Given the description of an element on the screen output the (x, y) to click on. 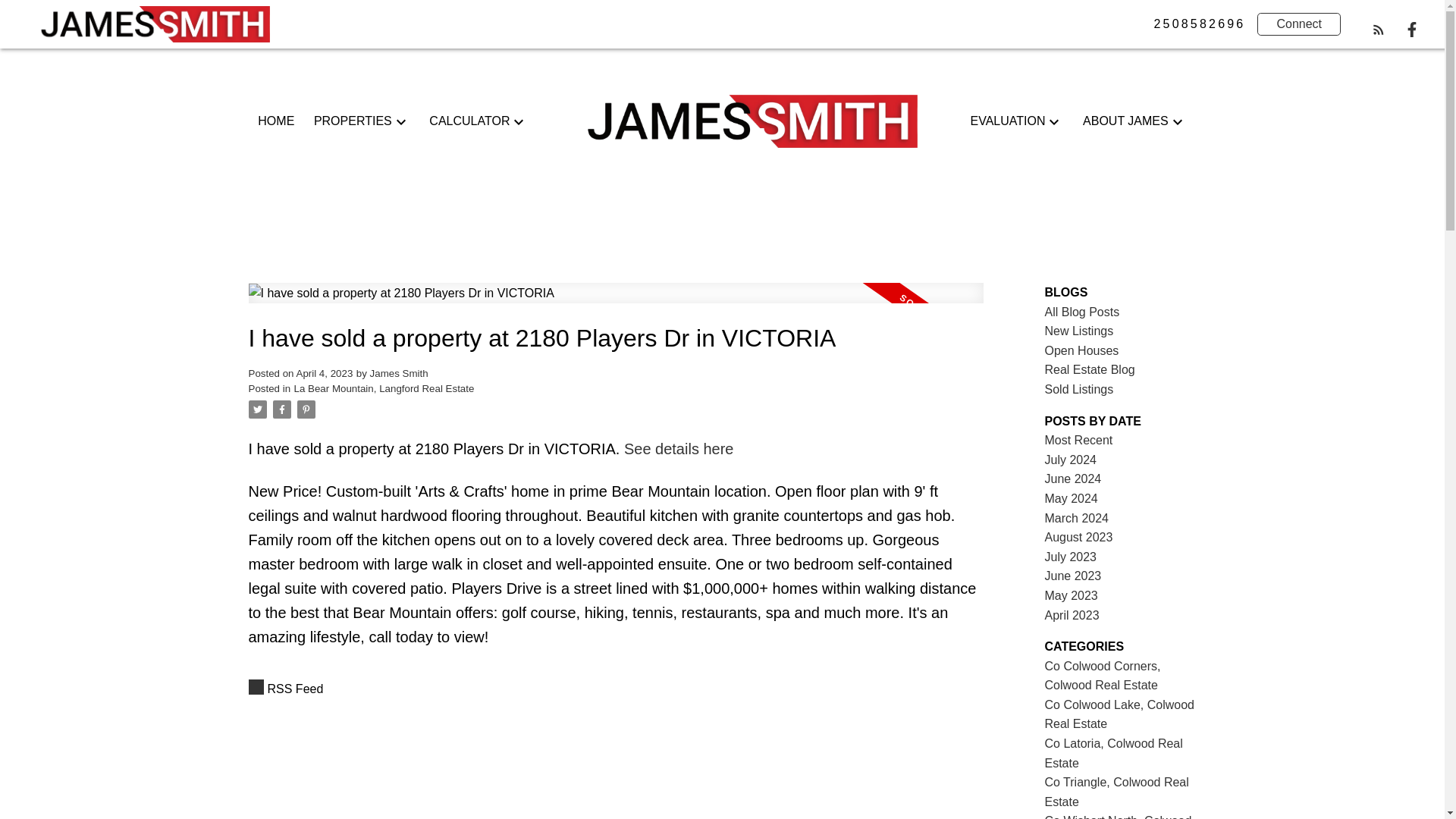
June 2023 (1073, 575)
ABOUT JAMES (1126, 121)
Open Houses (1082, 350)
May 2023 (1071, 594)
RSS (616, 689)
March 2024 (1077, 517)
May 2024 (1071, 498)
All Blog Posts (1082, 311)
Connect (1298, 24)
August 2023 (1079, 536)
